Given the description of an element on the screen output the (x, y) to click on. 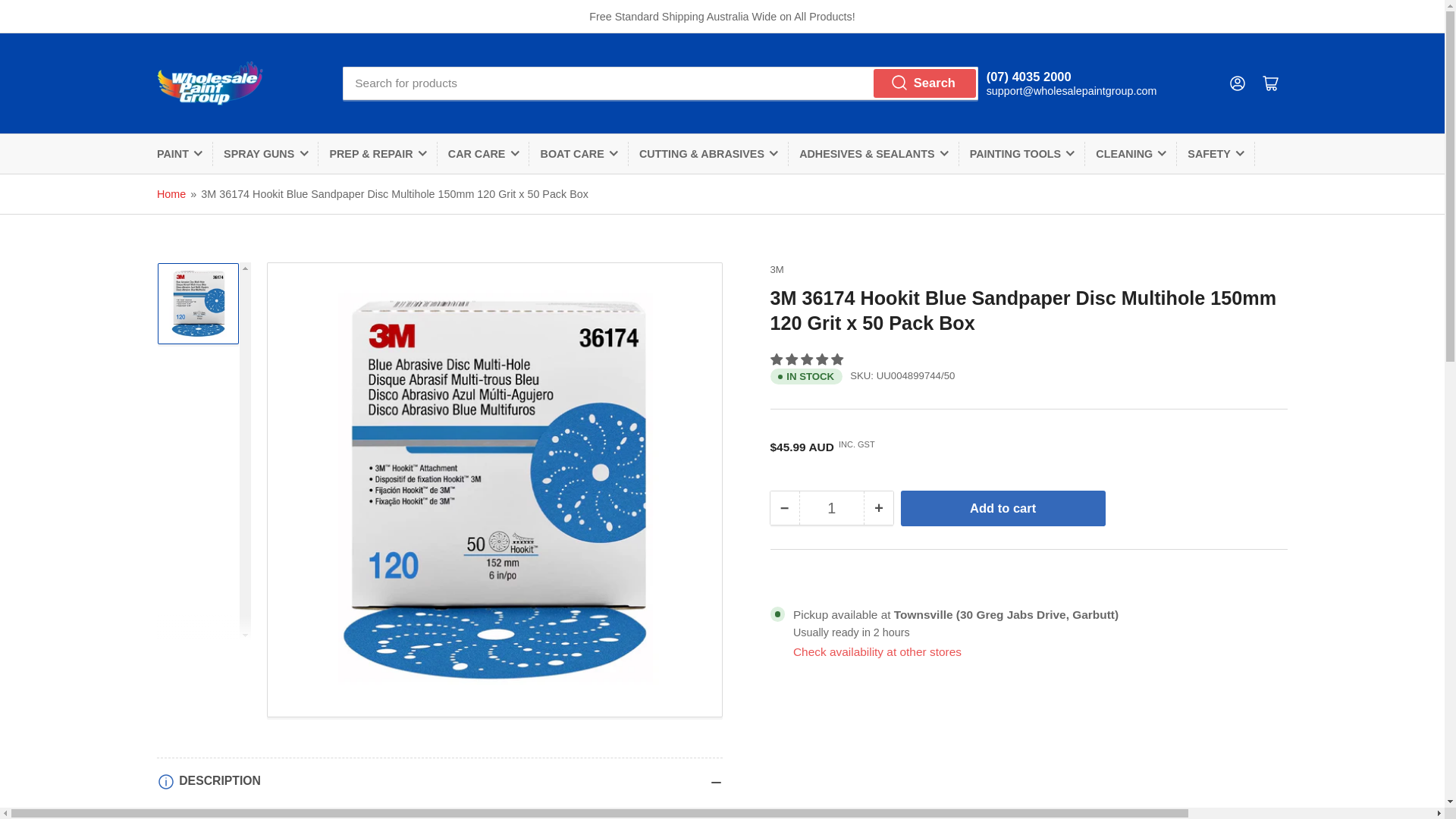
Open mini cart (1270, 82)
1 (831, 507)
Search (925, 83)
Log in (1237, 82)
